Given the description of an element on the screen output the (x, y) to click on. 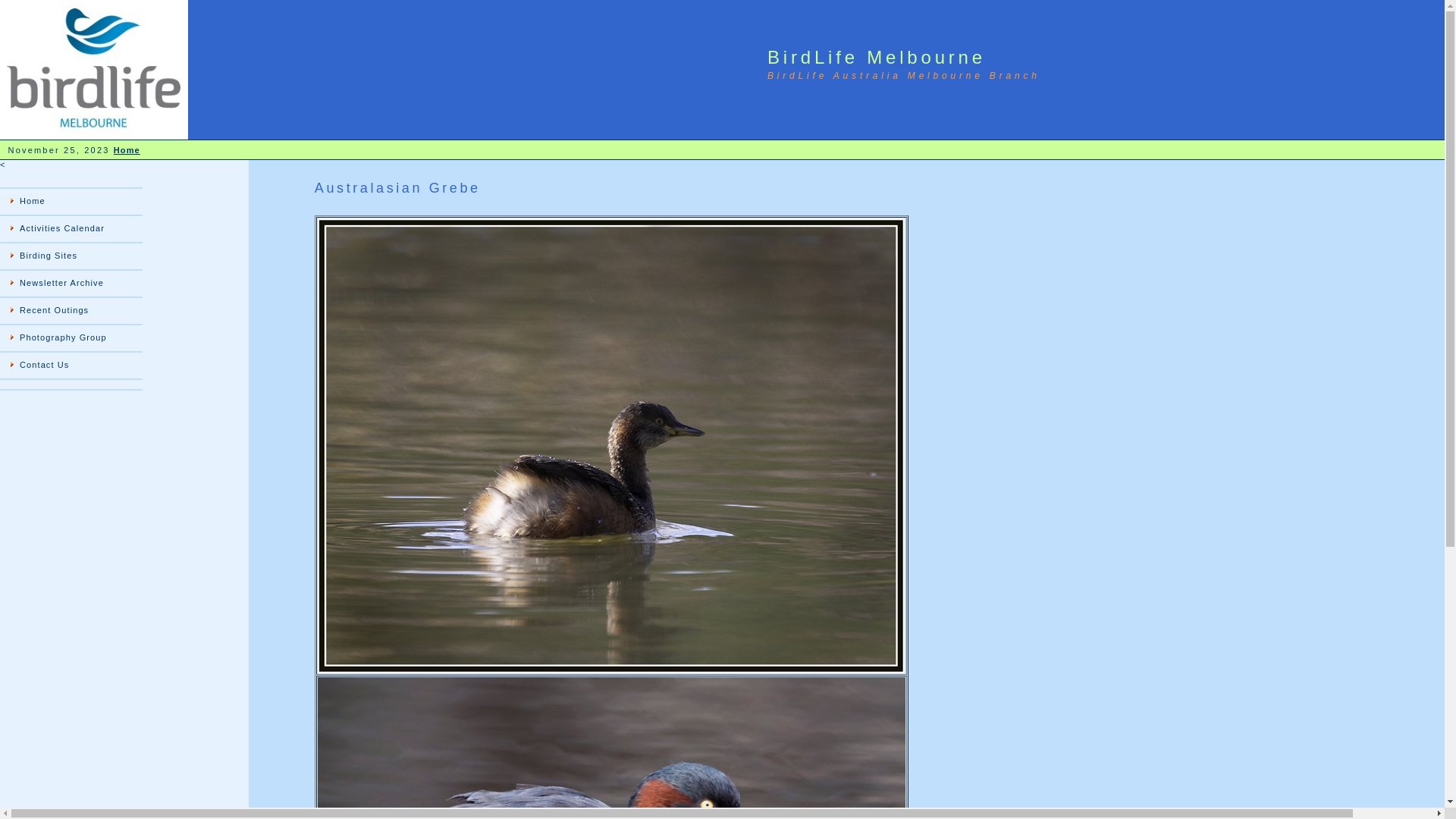
Home Element type: text (126, 149)
Photography Group Element type: text (71, 338)
Home Element type: text (71, 201)
Newsletter Archive Element type: text (71, 283)
Birding Sites Element type: text (71, 256)
Recent Outings Element type: text (71, 310)
Contact Us Element type: text (71, 365)
Activities Calendar Element type: text (71, 228)
